Given the description of an element on the screen output the (x, y) to click on. 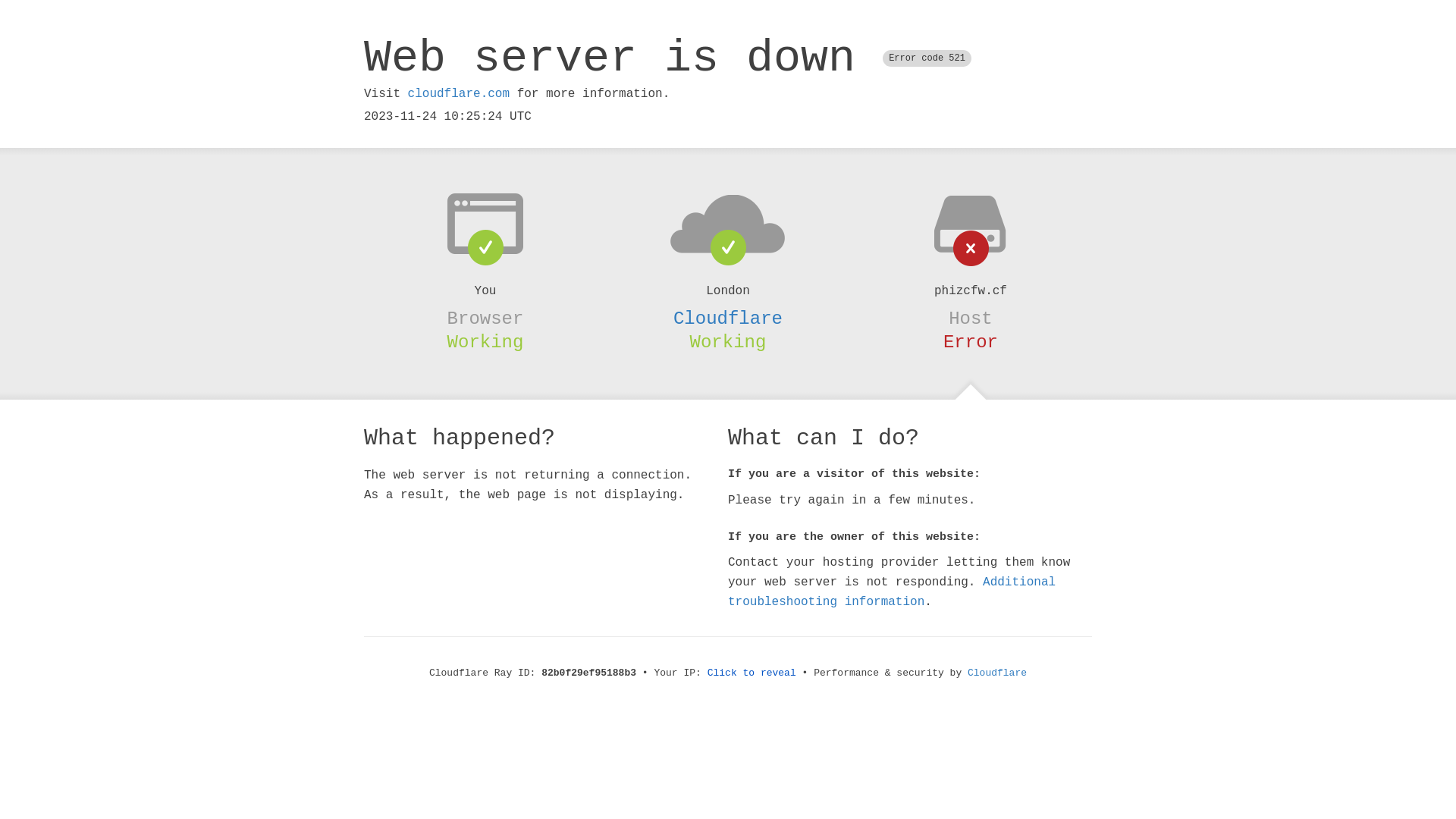
Cloudflare Element type: text (996, 672)
Click to reveal Element type: text (751, 672)
Cloudflare Element type: text (727, 318)
Additional troubleshooting information Element type: text (891, 591)
cloudflare.com Element type: text (458, 93)
